Given the description of an element on the screen output the (x, y) to click on. 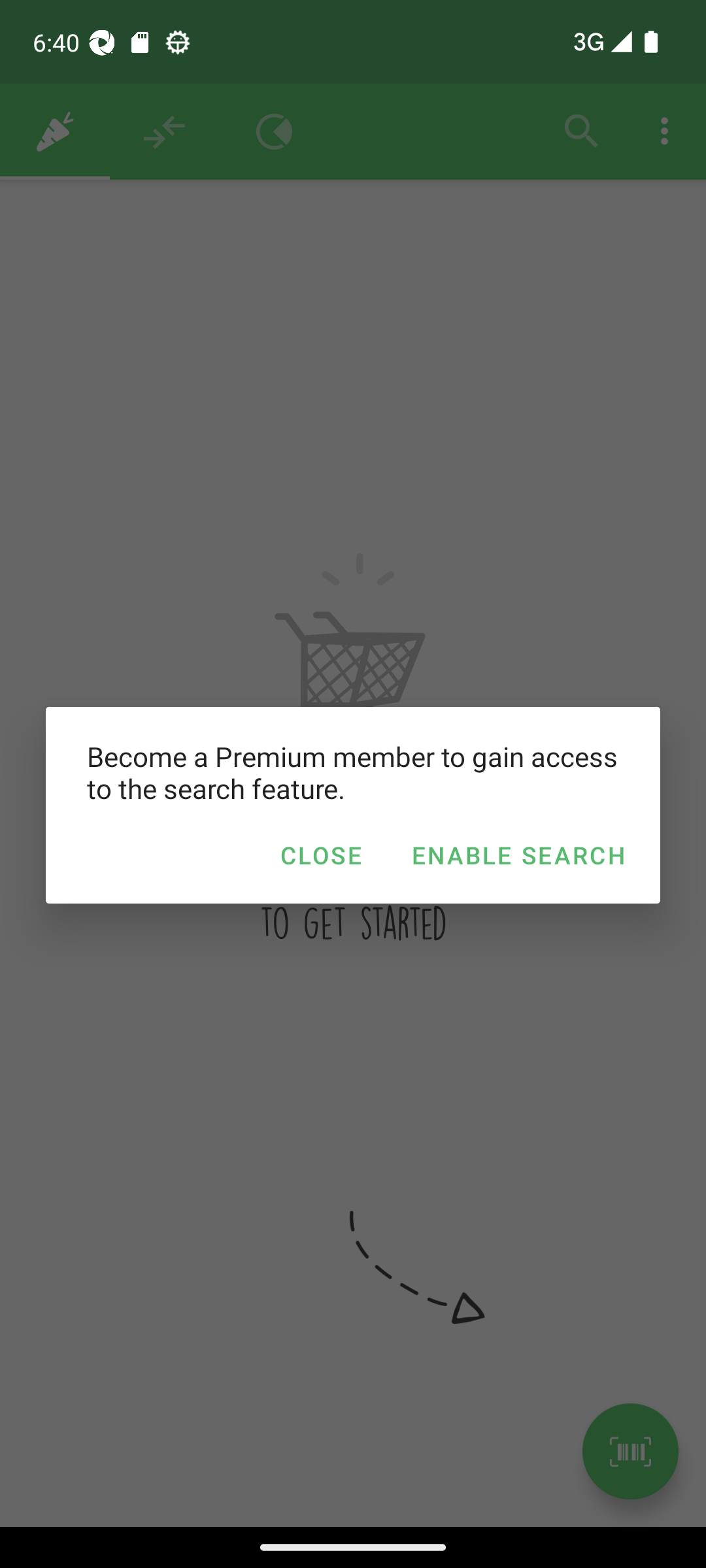
CLOSE (320, 854)
ENABLE SEARCH (517, 854)
